Given the description of an element on the screen output the (x, y) to click on. 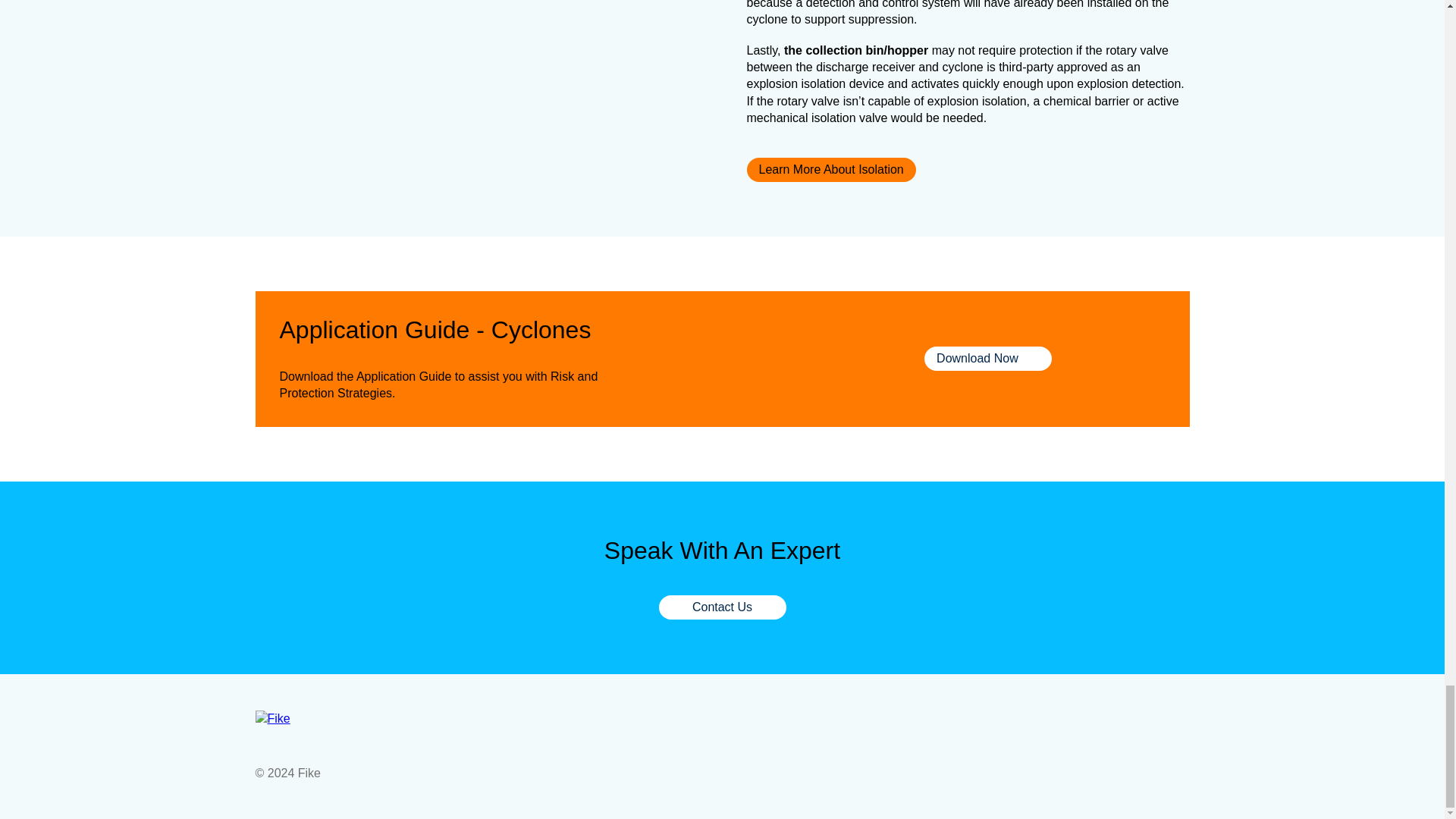
Contact Us (722, 607)
Learn More About Isolation (830, 169)
Download Now (987, 358)
